Given the description of an element on the screen output the (x, y) to click on. 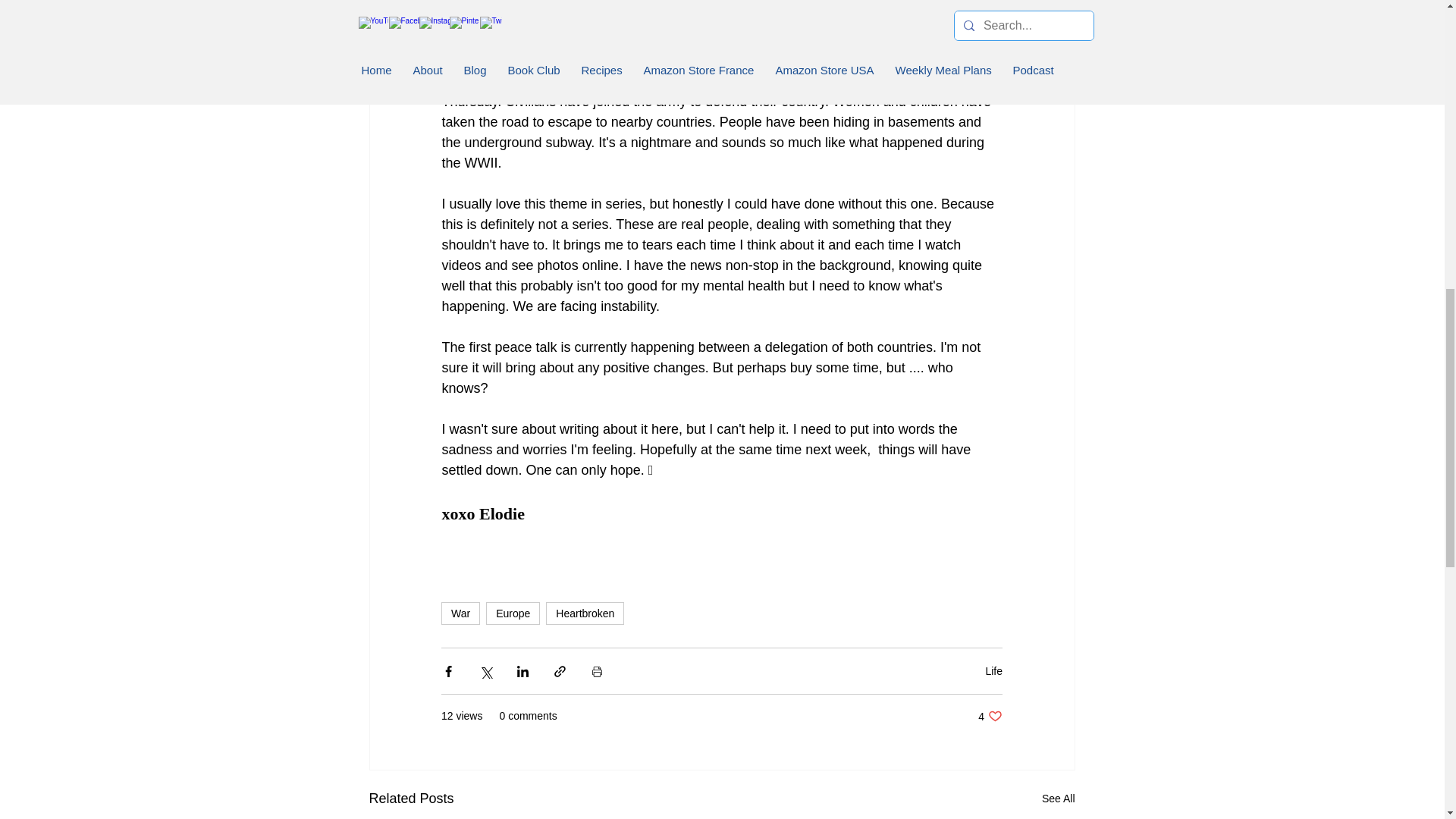
Life (994, 671)
War (460, 612)
Europe (513, 612)
Heartbroken (585, 612)
